Given the description of an element on the screen output the (x, y) to click on. 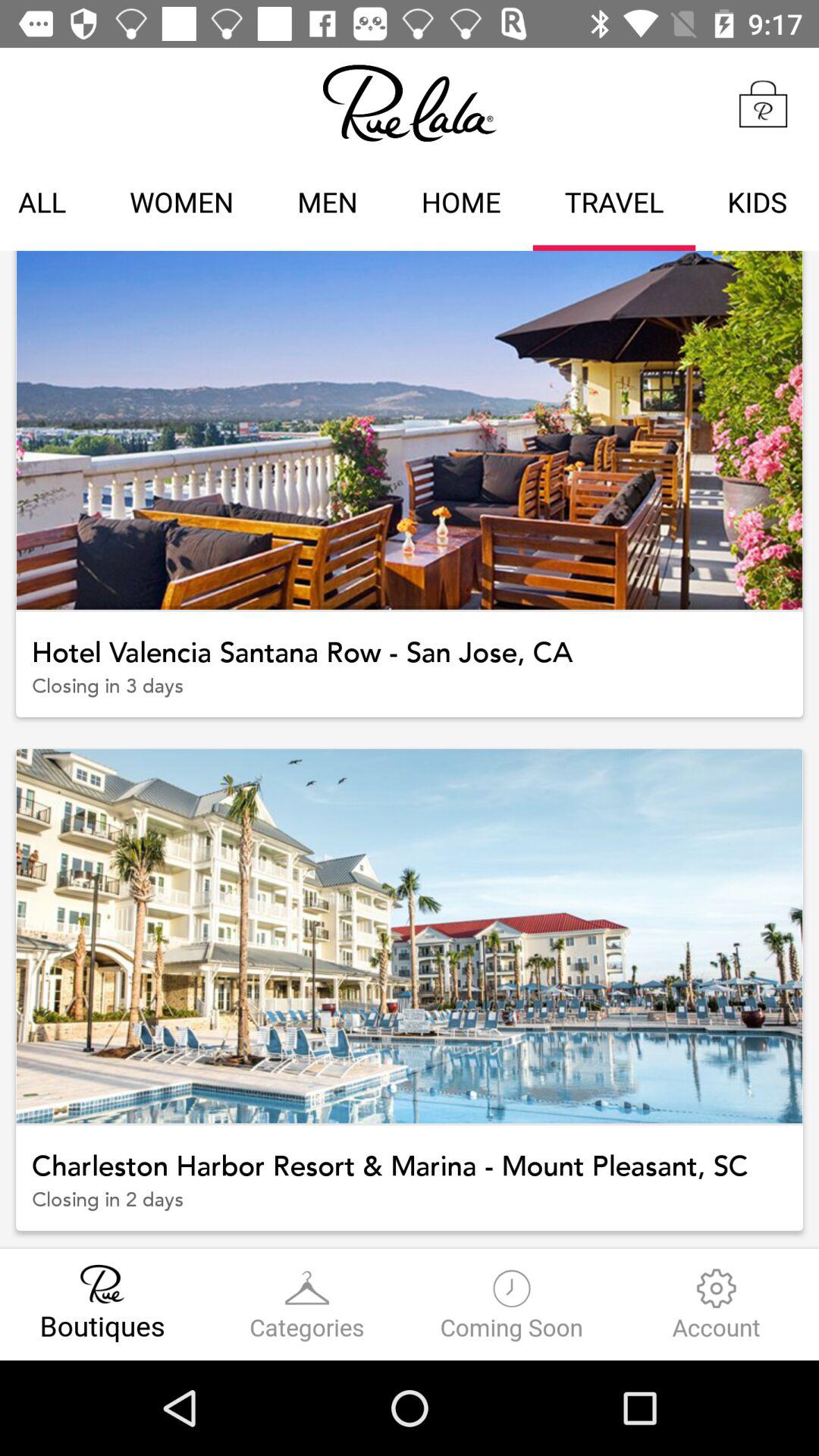
turn off icon to the left of travel (460, 204)
